Given the description of an element on the screen output the (x, y) to click on. 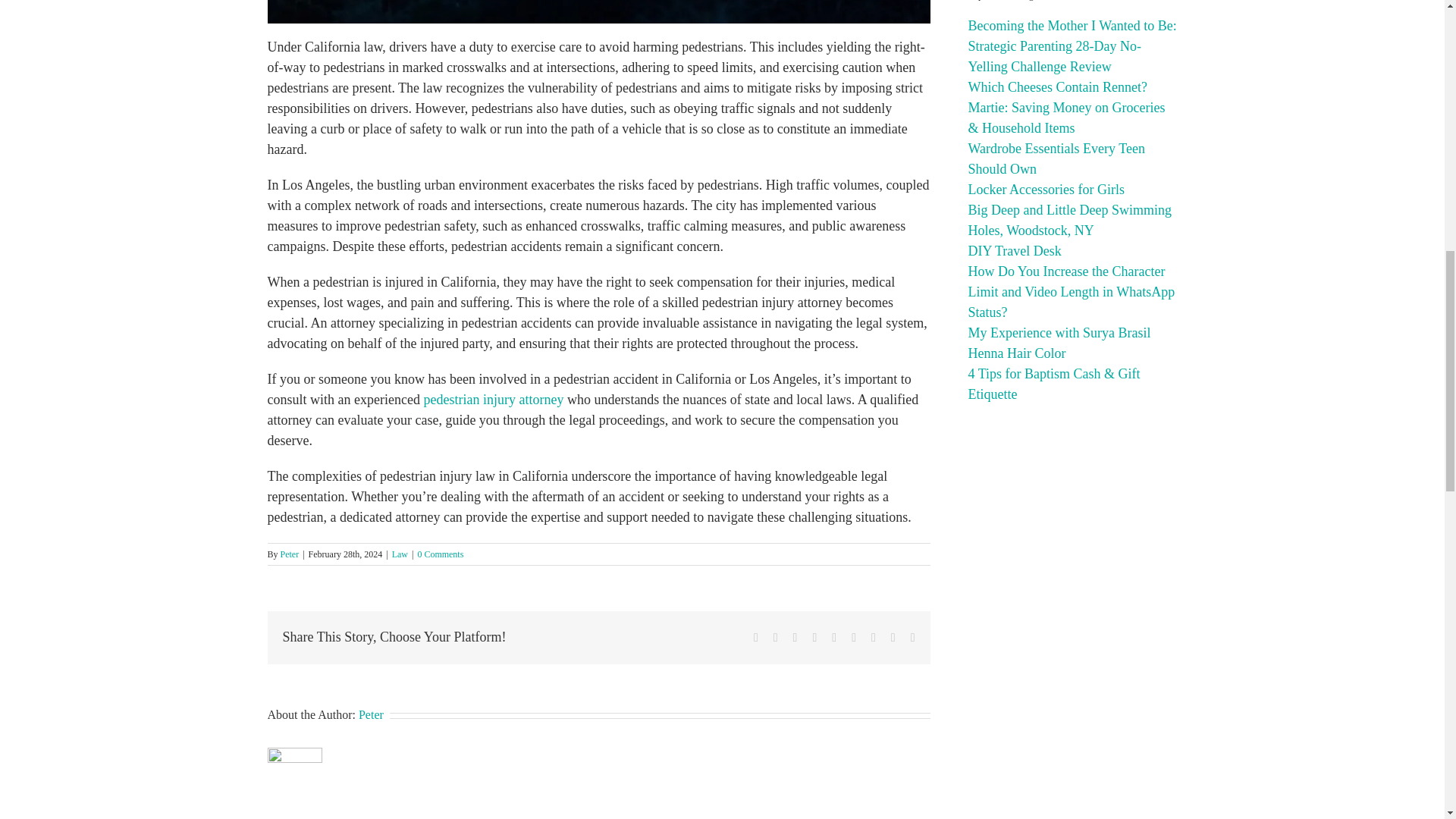
Posts by Peter (290, 553)
